Given the description of an element on the screen output the (x, y) to click on. 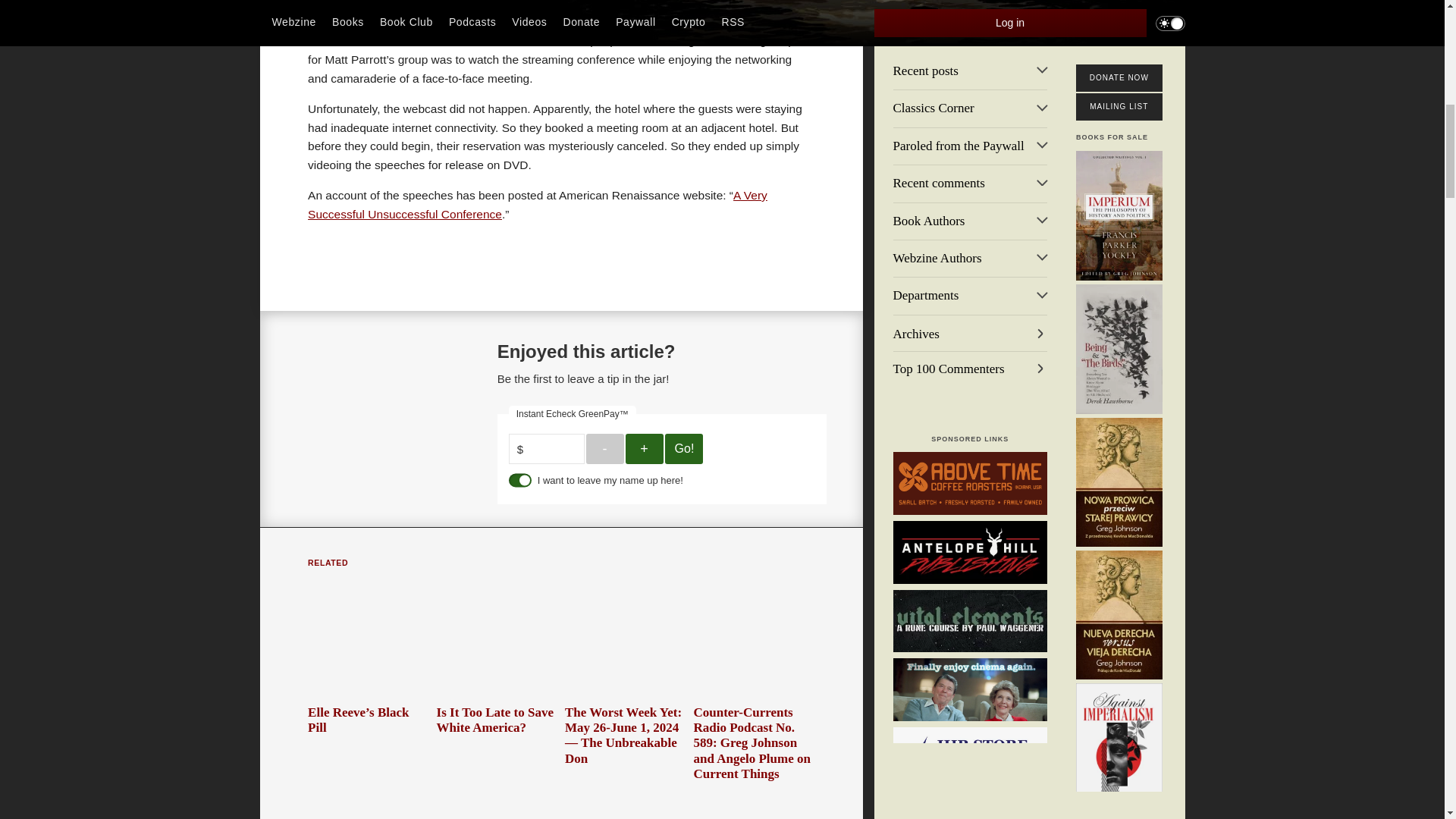
Go! (684, 449)
